Given the description of an element on the screen output the (x, y) to click on. 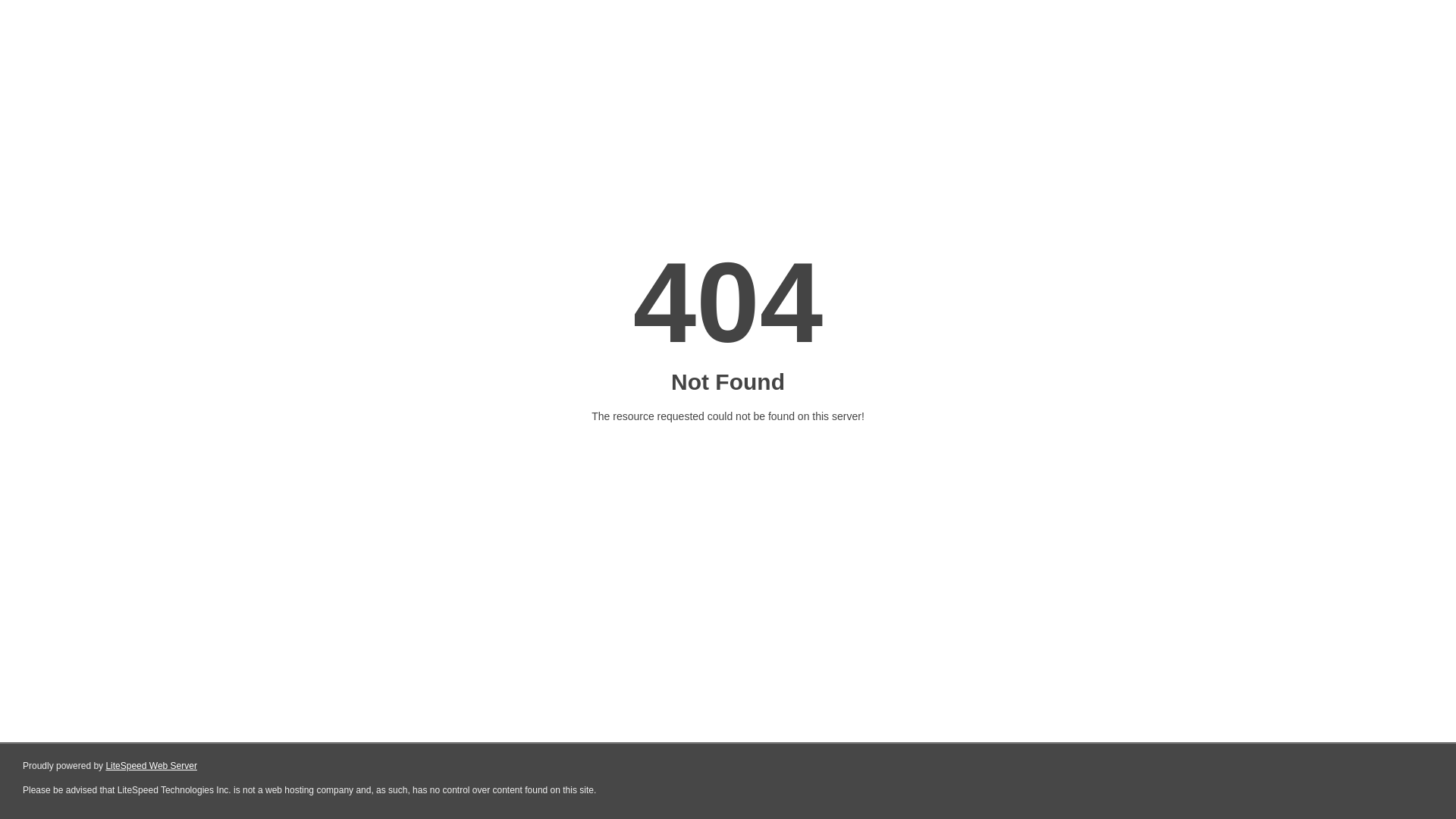
LiteSpeed Web Server Element type: text (151, 765)
